Given the description of an element on the screen output the (x, y) to click on. 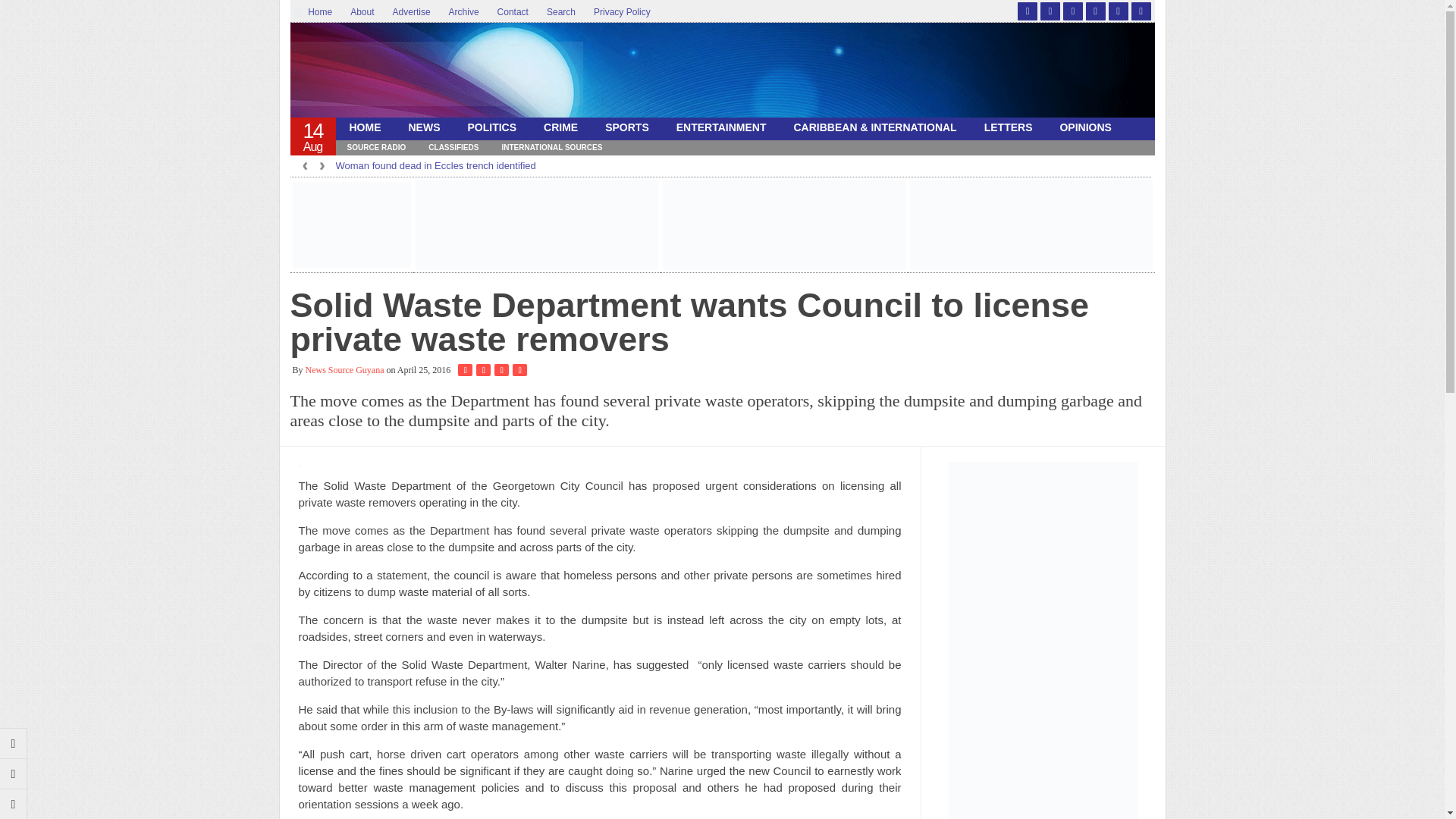
Advertise (411, 12)
  Home (318, 12)
Go to homepage (13, 803)
POLITICS (490, 127)
HOME (364, 127)
OPINIONS (1084, 127)
ENTERTAINMENT (721, 127)
Next post:  (13, 773)
